Given the description of an element on the screen output the (x, y) to click on. 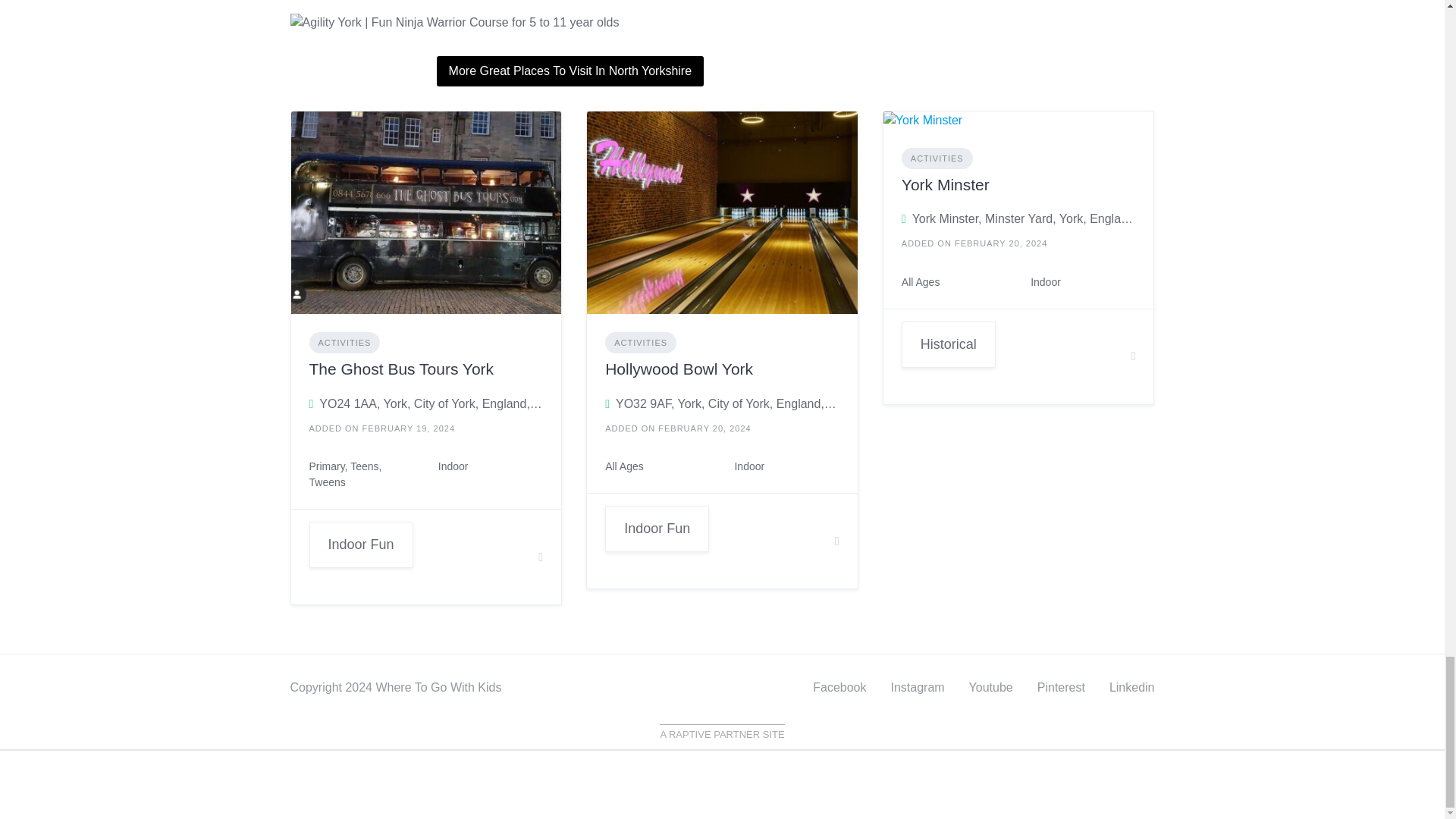
Agility Parks York 10 (1018, 119)
Agility Parks York 8 (426, 211)
Agility Parks York 9 (721, 211)
Agility Parks York 5 (569, 22)
